Given the description of an element on the screen output the (x, y) to click on. 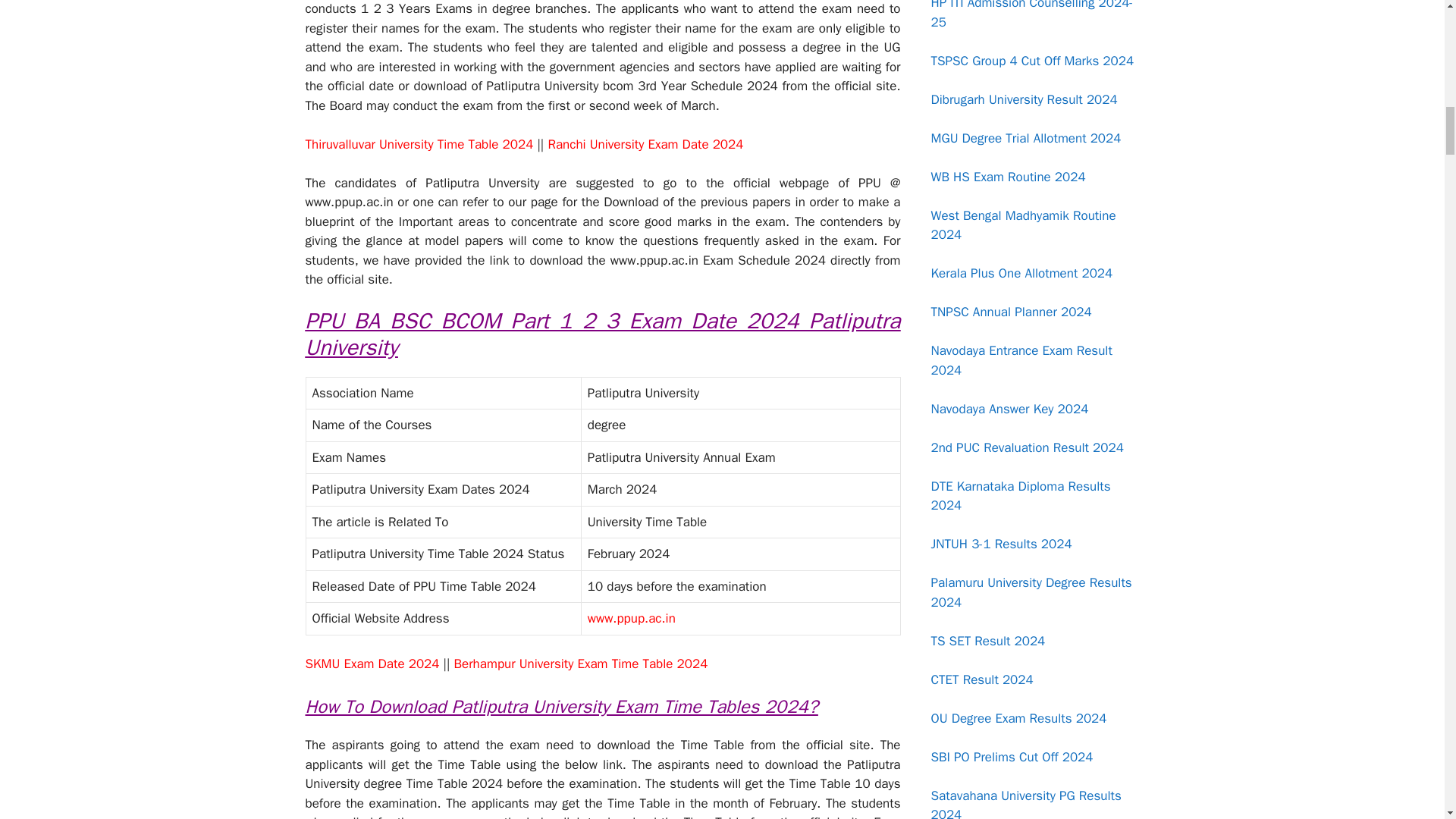
www.ppup.ac.in (631, 618)
Thiruvalluvar University Time Table 2024 (418, 144)
Ranchi University Exam Date 2024 (644, 144)
Berhampur University Exam Time Table 2024 (579, 663)
SKMU Exam Date 2024 (371, 663)
